Given the description of an element on the screen output the (x, y) to click on. 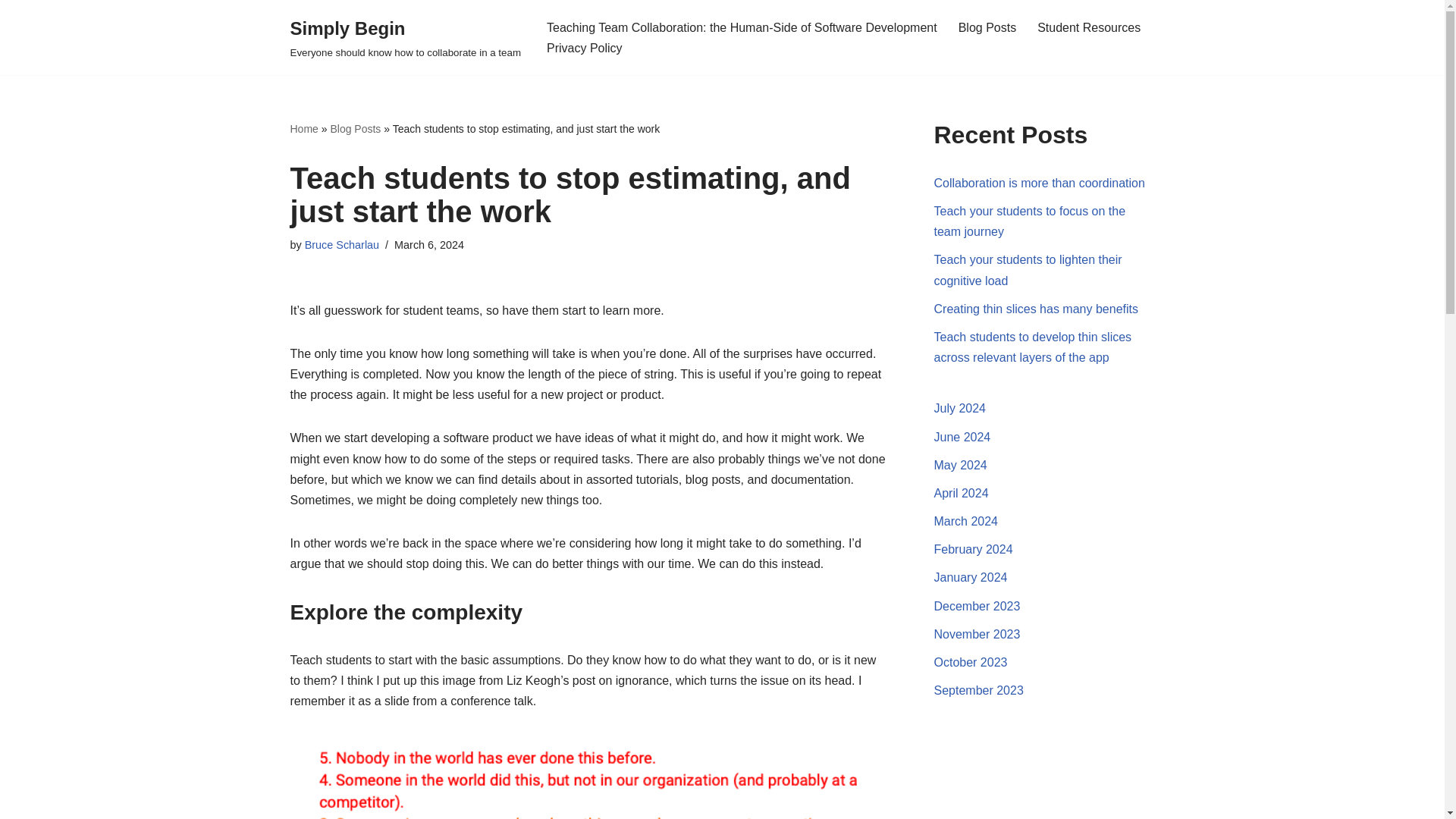
Collaboration is more than coordination (1039, 182)
September 2023 (978, 689)
June 2024 (962, 436)
January 2024 (970, 576)
Blog Posts (355, 128)
Creating thin slices has many benefits (1036, 308)
December 2023 (977, 605)
April 2024 (961, 492)
Blog Posts (987, 27)
March 2024 (966, 521)
October 2023 (970, 662)
Teach your students to lighten their cognitive load (1028, 269)
July 2024 (960, 408)
Posts by Bruce Scharlau (341, 244)
